Given the description of an element on the screen output the (x, y) to click on. 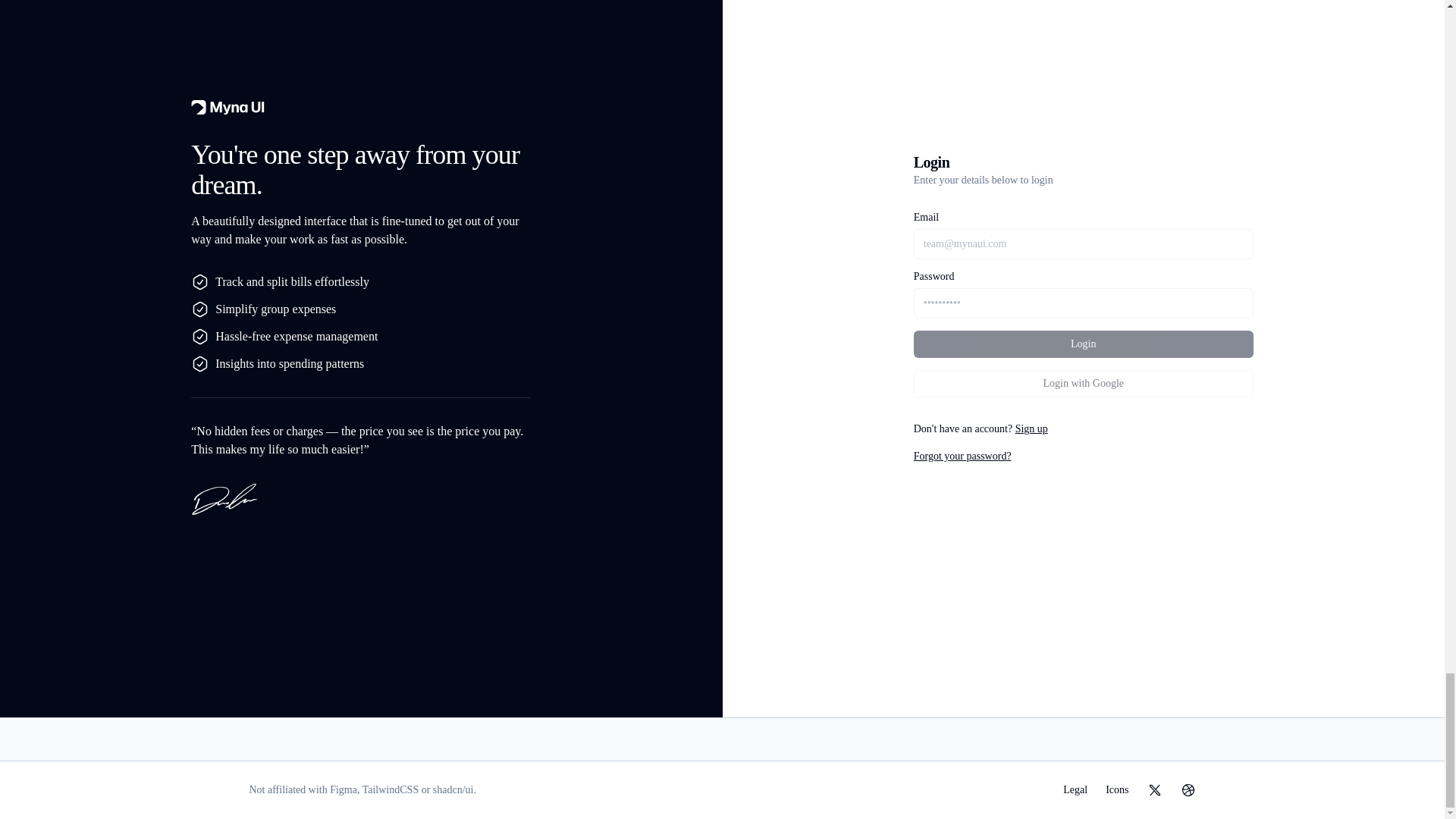
Login (1083, 343)
Login with Google (1083, 383)
Dribbble (1187, 789)
